Given the description of an element on the screen output the (x, y) to click on. 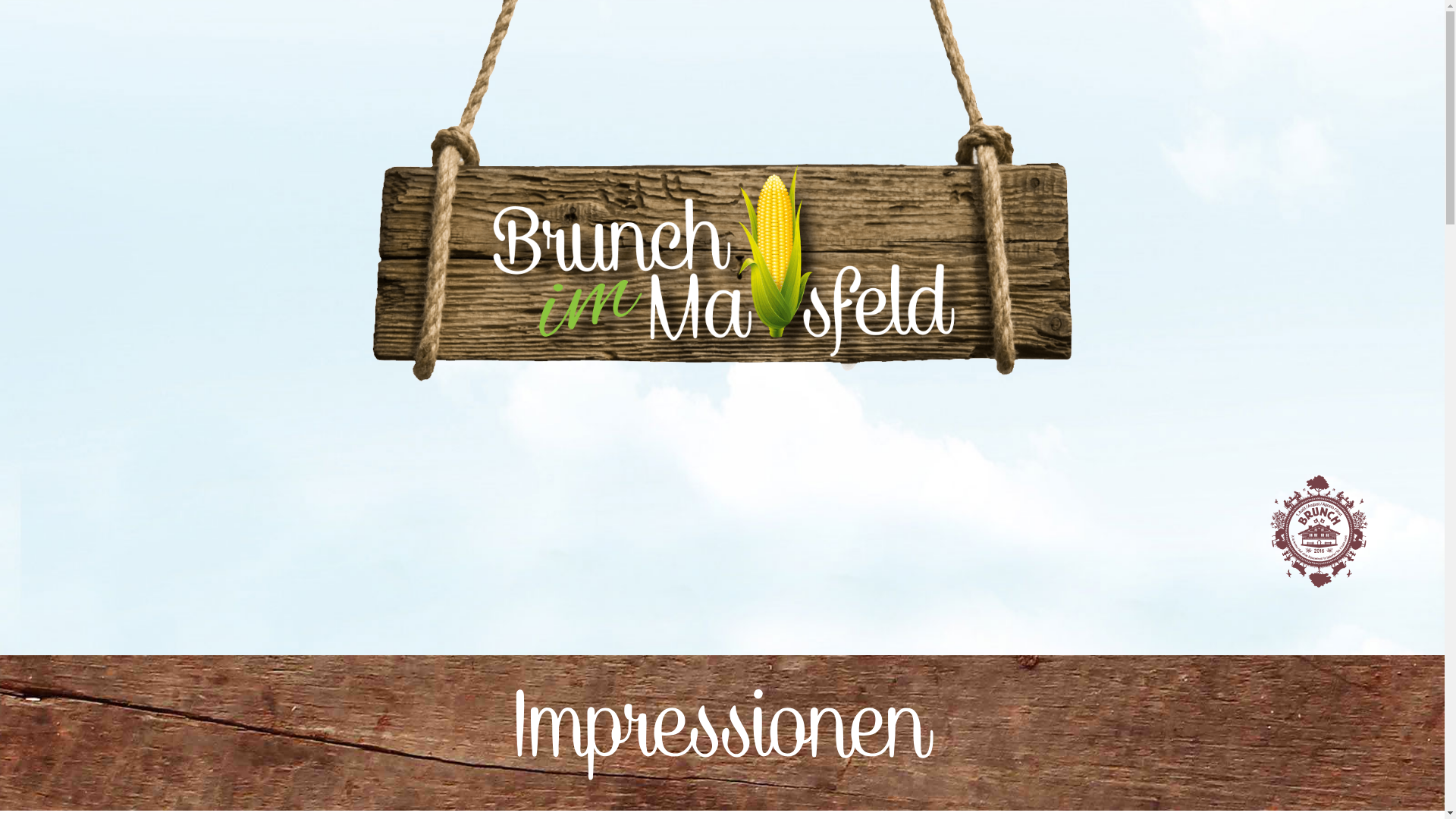
1. August auf dem Bauernhof Element type: hover (1319, 529)
